Given the description of an element on the screen output the (x, y) to click on. 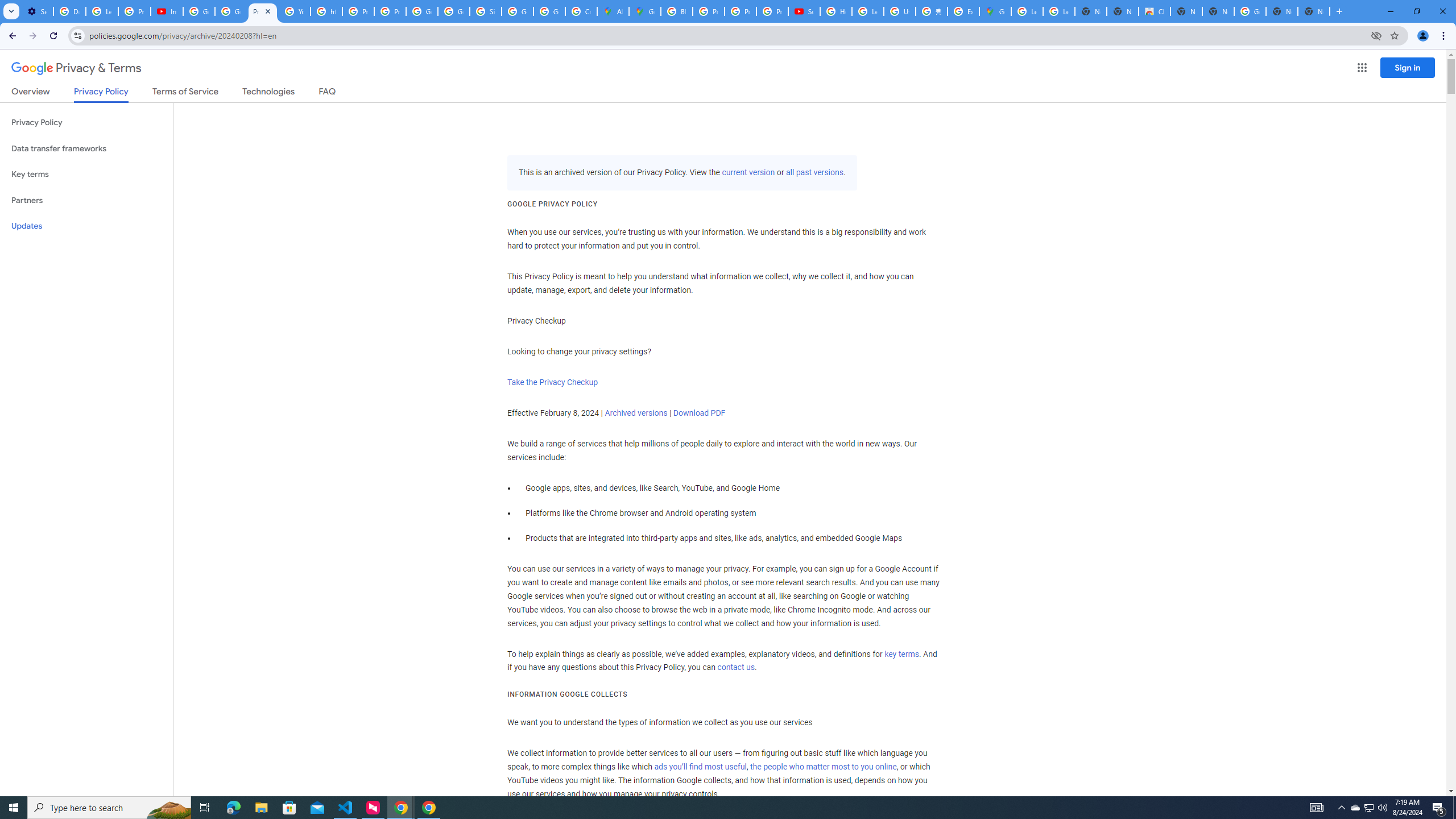
Blogger Policies and Guidelines - Transparency Center (676, 11)
Take the Privacy Checkup (552, 381)
YouTube (294, 11)
How Chrome protects your passwords - Google Chrome Help (836, 11)
Updates (86, 225)
Privacy Help Center - Policies Help (740, 11)
all past versions (813, 172)
Partners (86, 199)
FAQ (327, 93)
